Given the description of an element on the screen output the (x, y) to click on. 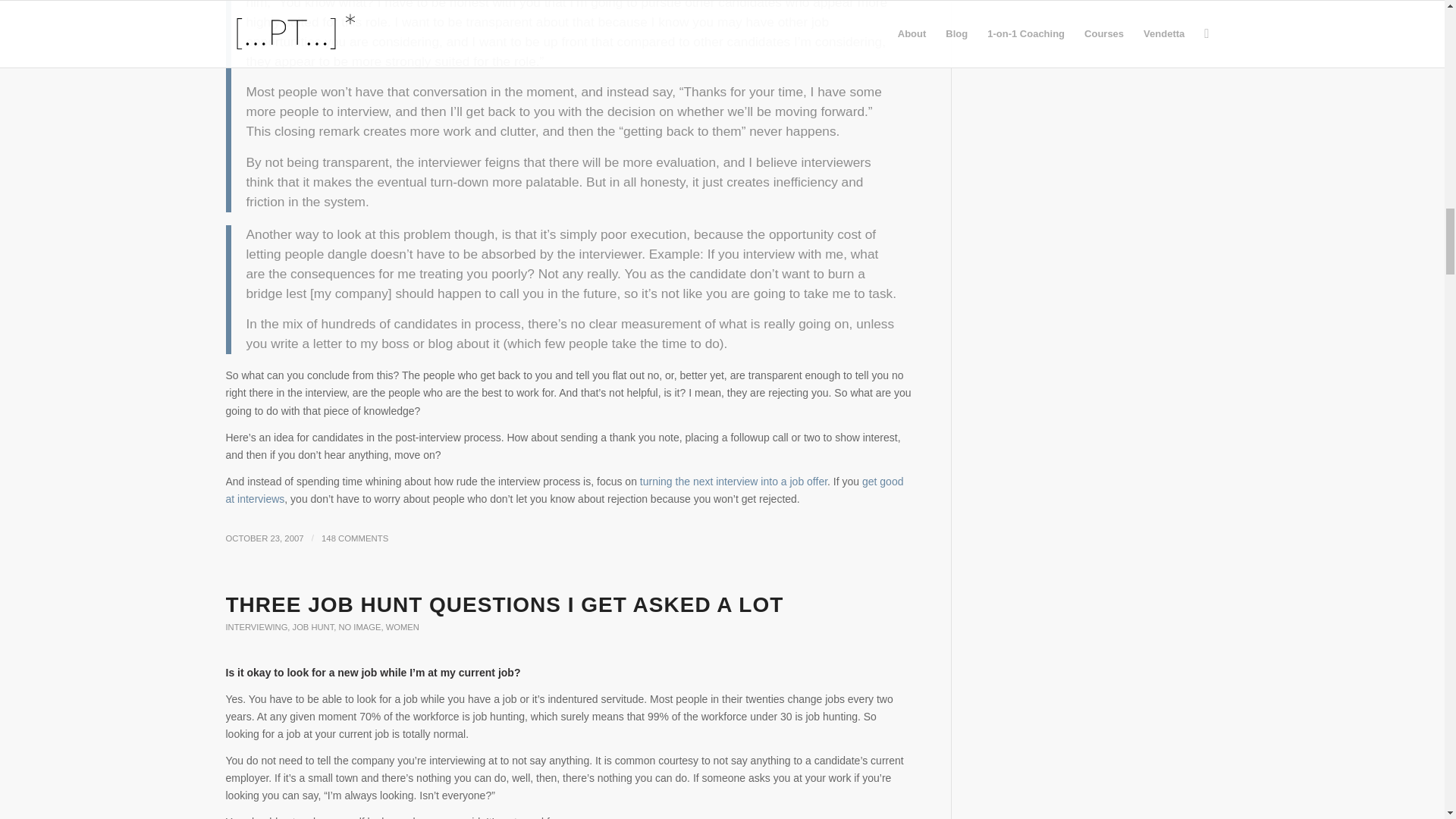
turning the next interview into a job offer (733, 481)
WOMEN (402, 626)
JOB HUNT (313, 626)
Permanent Link: Three job hunt questions I get asked a lot (504, 604)
get good at interviews (564, 490)
THREE JOB HUNT QUESTIONS I GET ASKED A LOT (504, 604)
148 COMMENTS (354, 537)
NO IMAGE (358, 626)
INTERVIEWING (256, 626)
